Given the description of an element on the screen output the (x, y) to click on. 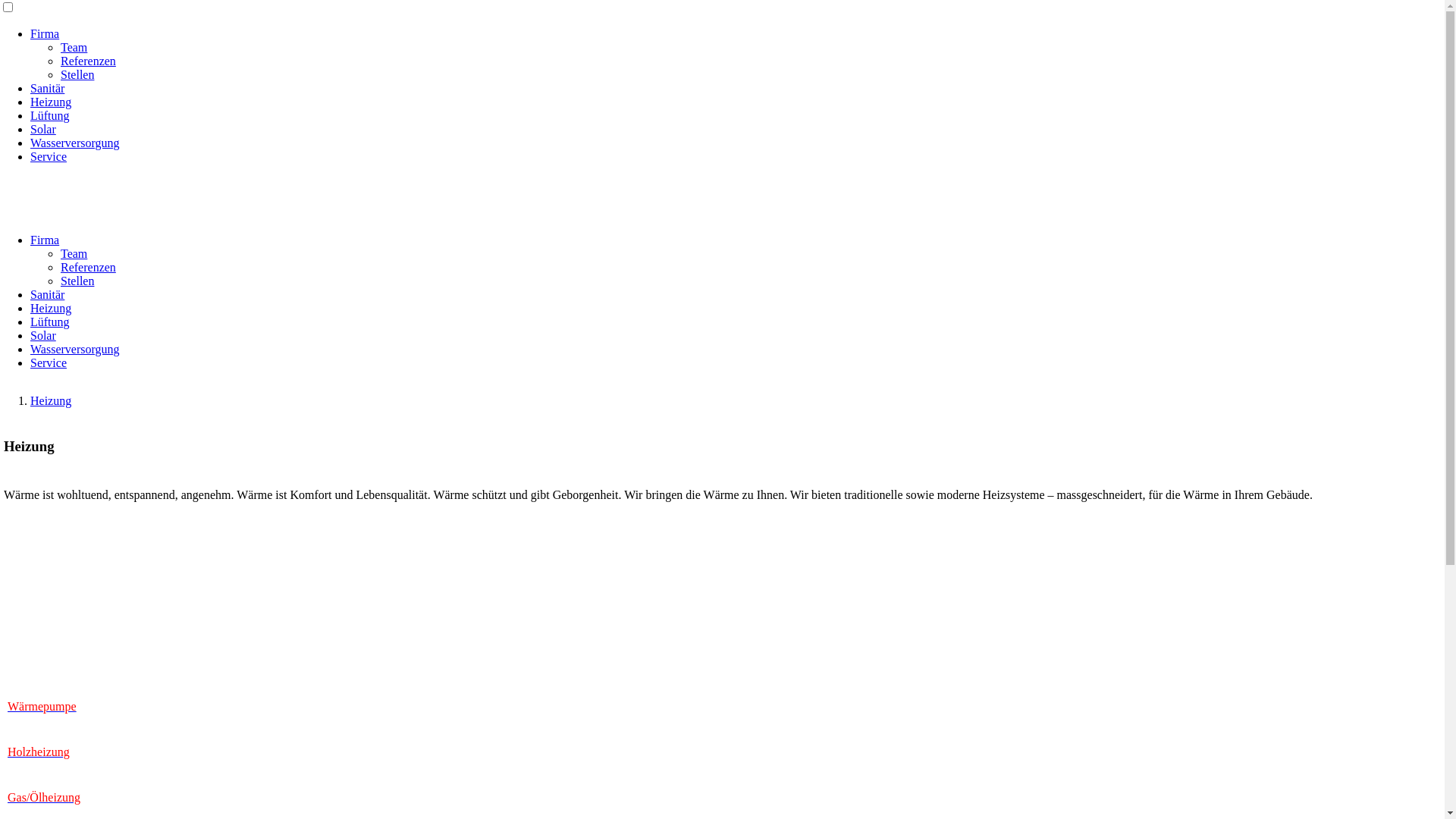
Heizung Element type: text (50, 307)
Solar Element type: text (43, 128)
Wasserversorgung Element type: text (74, 142)
Firma Element type: text (44, 239)
Stellen Element type: text (77, 280)
Firma Element type: text (44, 33)
Team Element type: text (73, 46)
Referenzen Element type: text (88, 60)
Stellen Element type: text (77, 74)
Holzheizung Element type: text (38, 751)
Heizung Element type: text (50, 101)
Referenzen Element type: text (88, 266)
Solar Element type: text (43, 335)
Wasserversorgung Element type: text (74, 348)
Service Element type: text (48, 156)
Service Element type: text (48, 362)
Team Element type: text (73, 253)
Heizung Element type: text (50, 400)
